Given the description of an element on the screen output the (x, y) to click on. 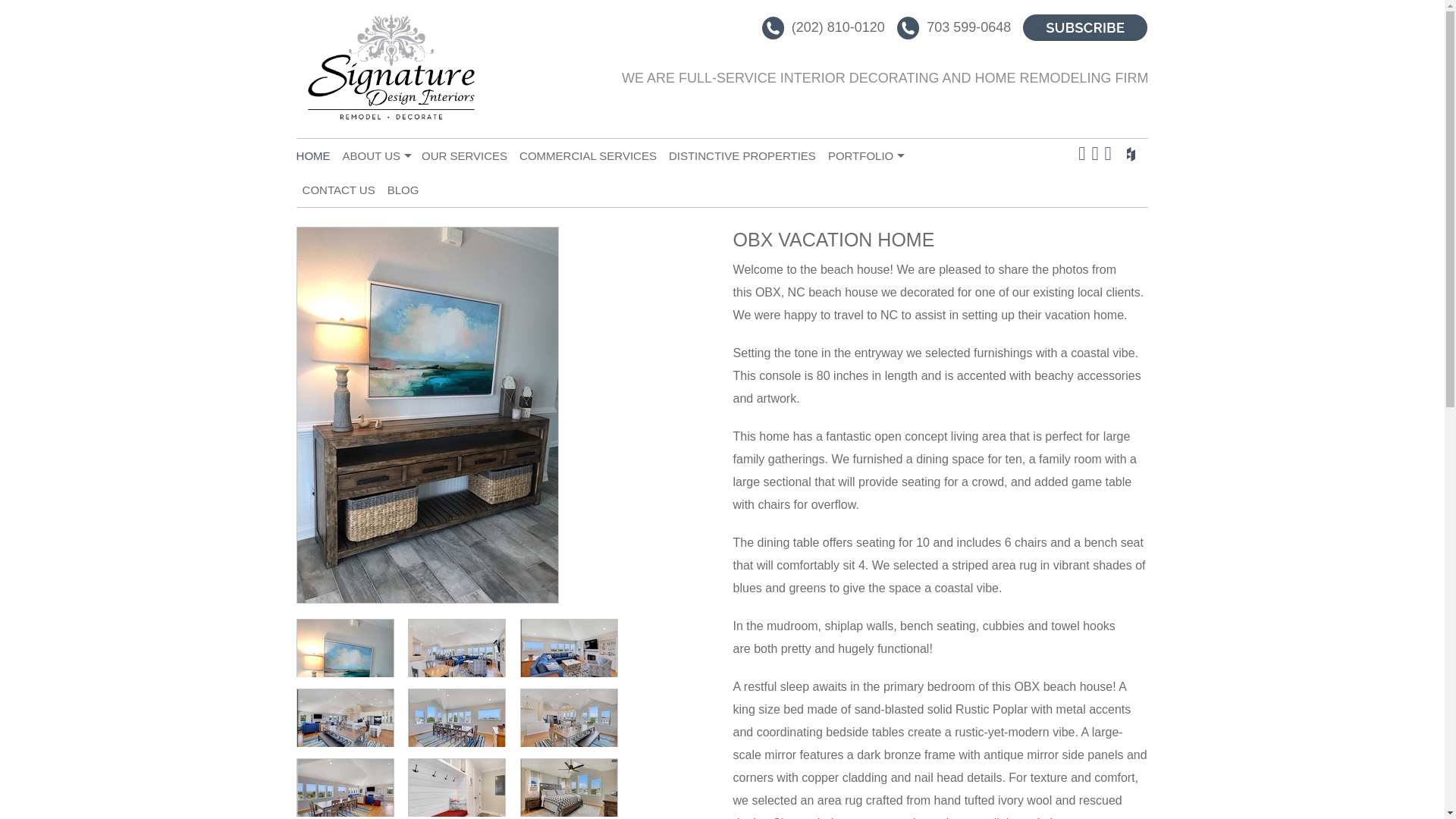
HOME (316, 155)
CONTACT US (339, 189)
PORTFOLIO (865, 155)
BLOG (403, 189)
OUR SERVICES (463, 155)
ABOUT US (375, 155)
703 599-0648 (956, 25)
COMMERCIAL SERVICES (587, 155)
DISTINCTIVE PROPERTIES (742, 155)
